Given the description of an element on the screen output the (x, y) to click on. 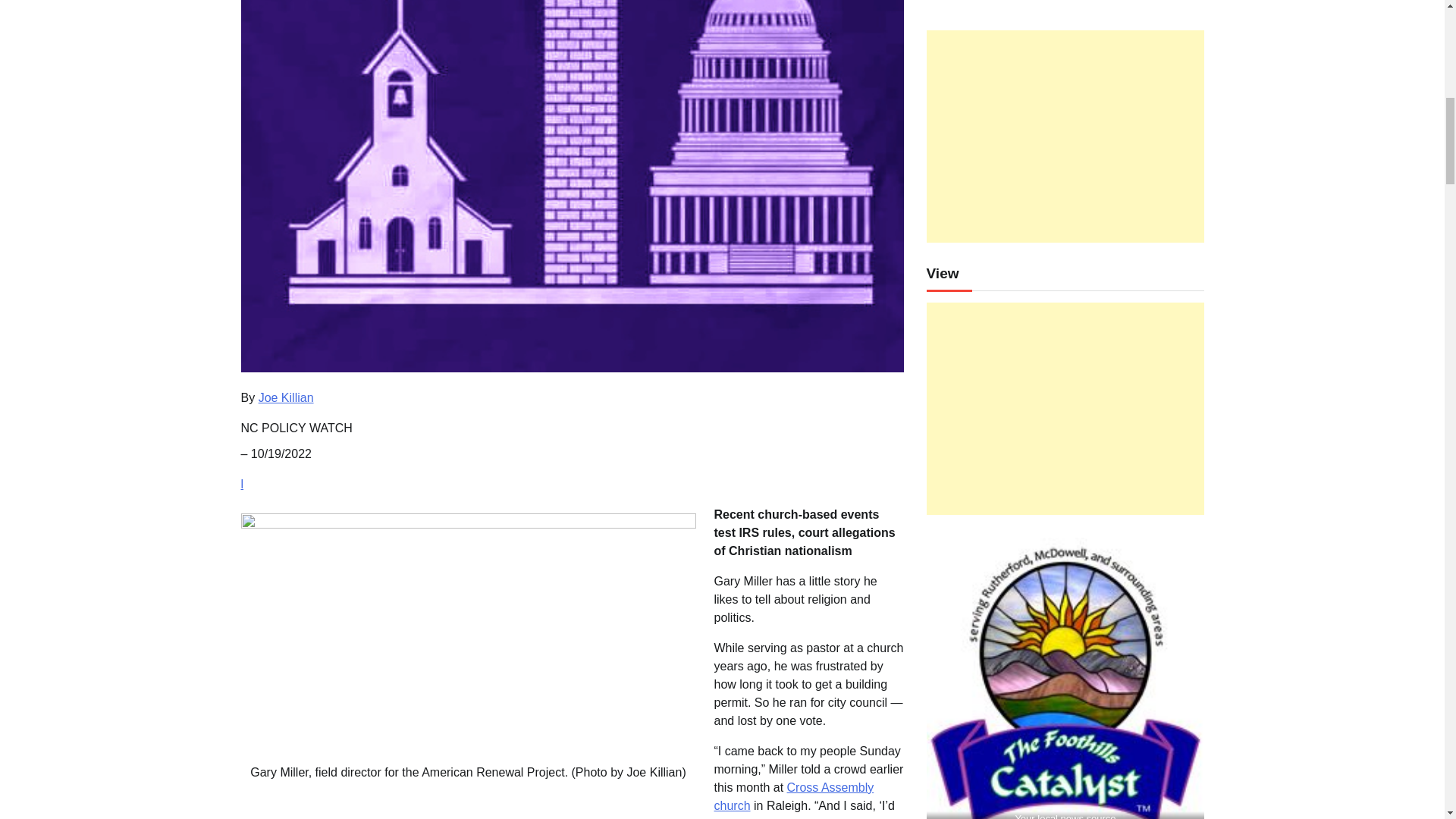
Joe Killian (286, 397)
Cross Assembly church (794, 796)
Posts by Joe Killian (286, 397)
